Given the description of an element on the screen output the (x, y) to click on. 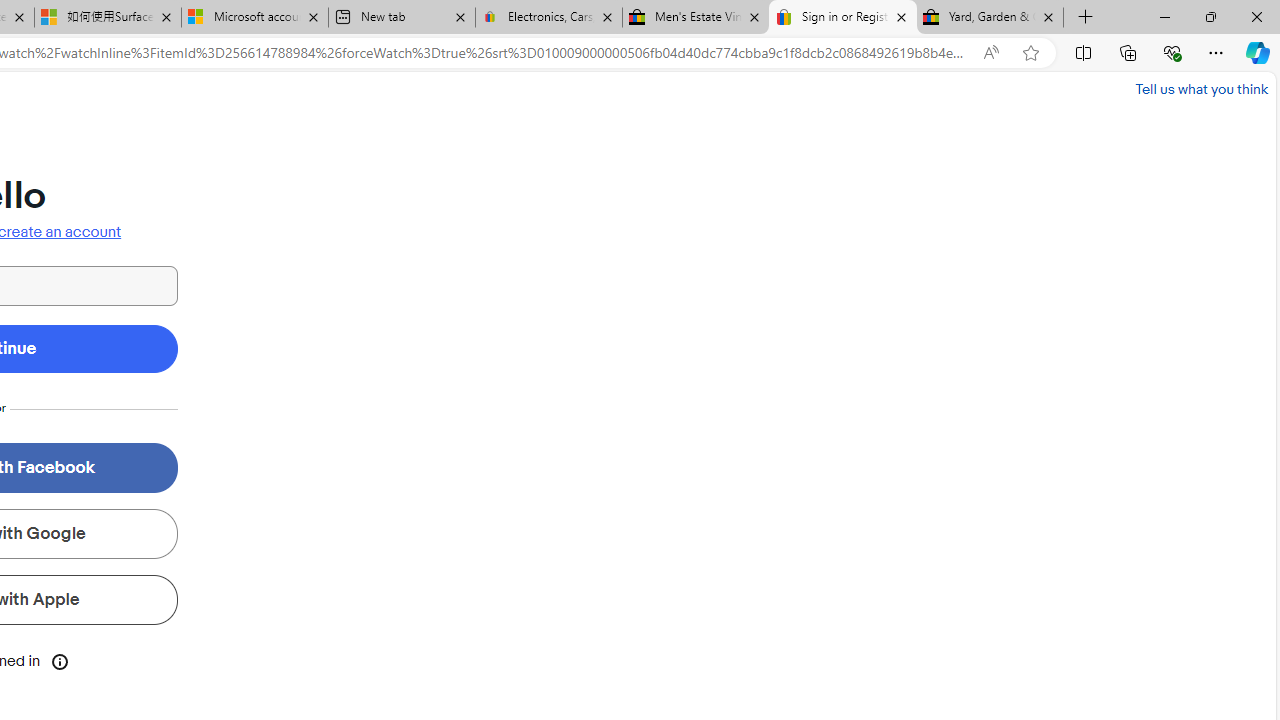
Tell us what you think - Link opens in a new window (1201, 88)
Sign in or Register | eBay (843, 17)
Class: icon-btn tooltip__host icon-btn--transparent (59, 660)
Microsoft account | Account Checkup (254, 17)
